Given the description of an element on the screen output the (x, y) to click on. 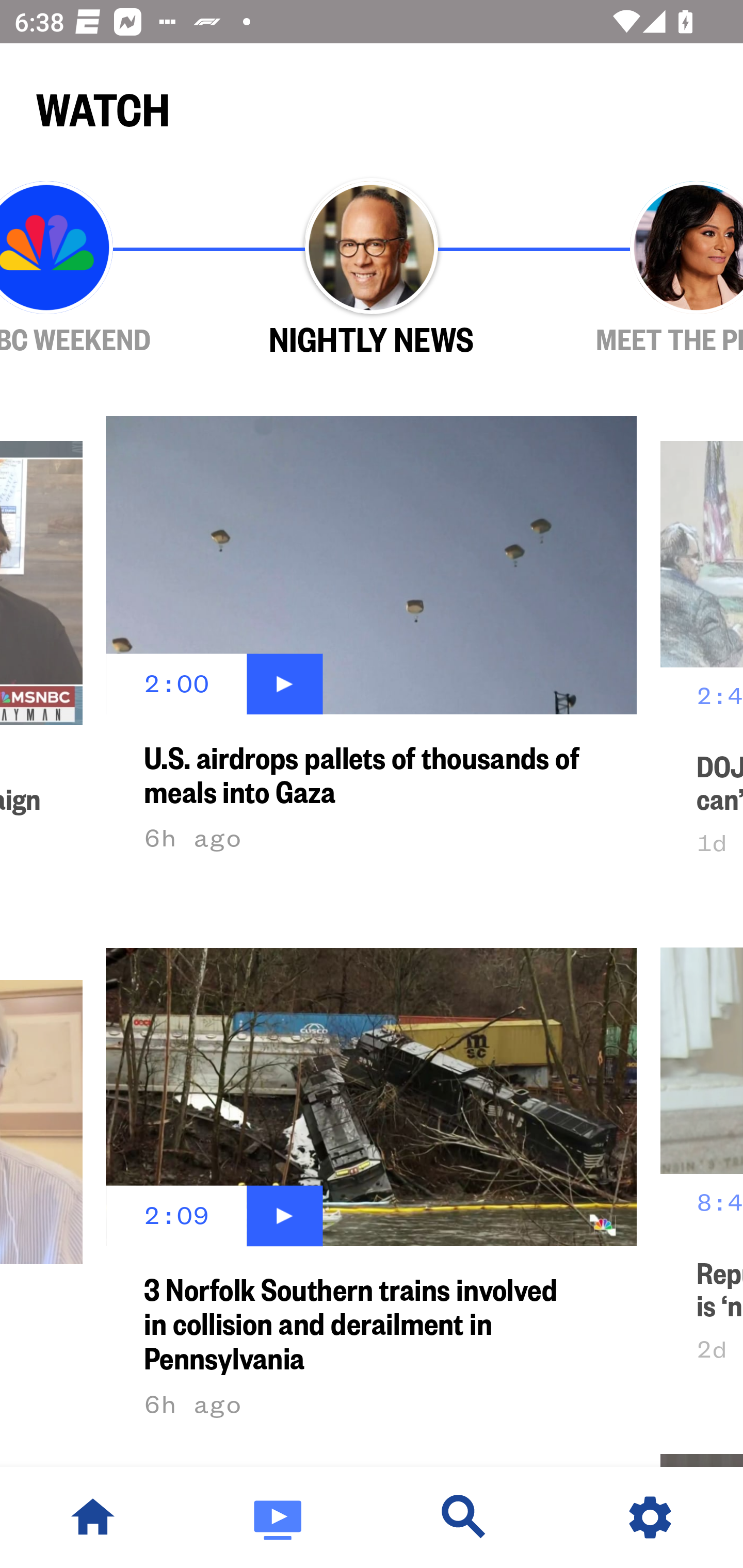
MSNBC WEEKEND (104, 268)
NIGHTLY NEWS (371, 268)
MEET THE PRESS (638, 268)
NBC News Home (92, 1517)
Discover (464, 1517)
Settings (650, 1517)
